Given the description of an element on the screen output the (x, y) to click on. 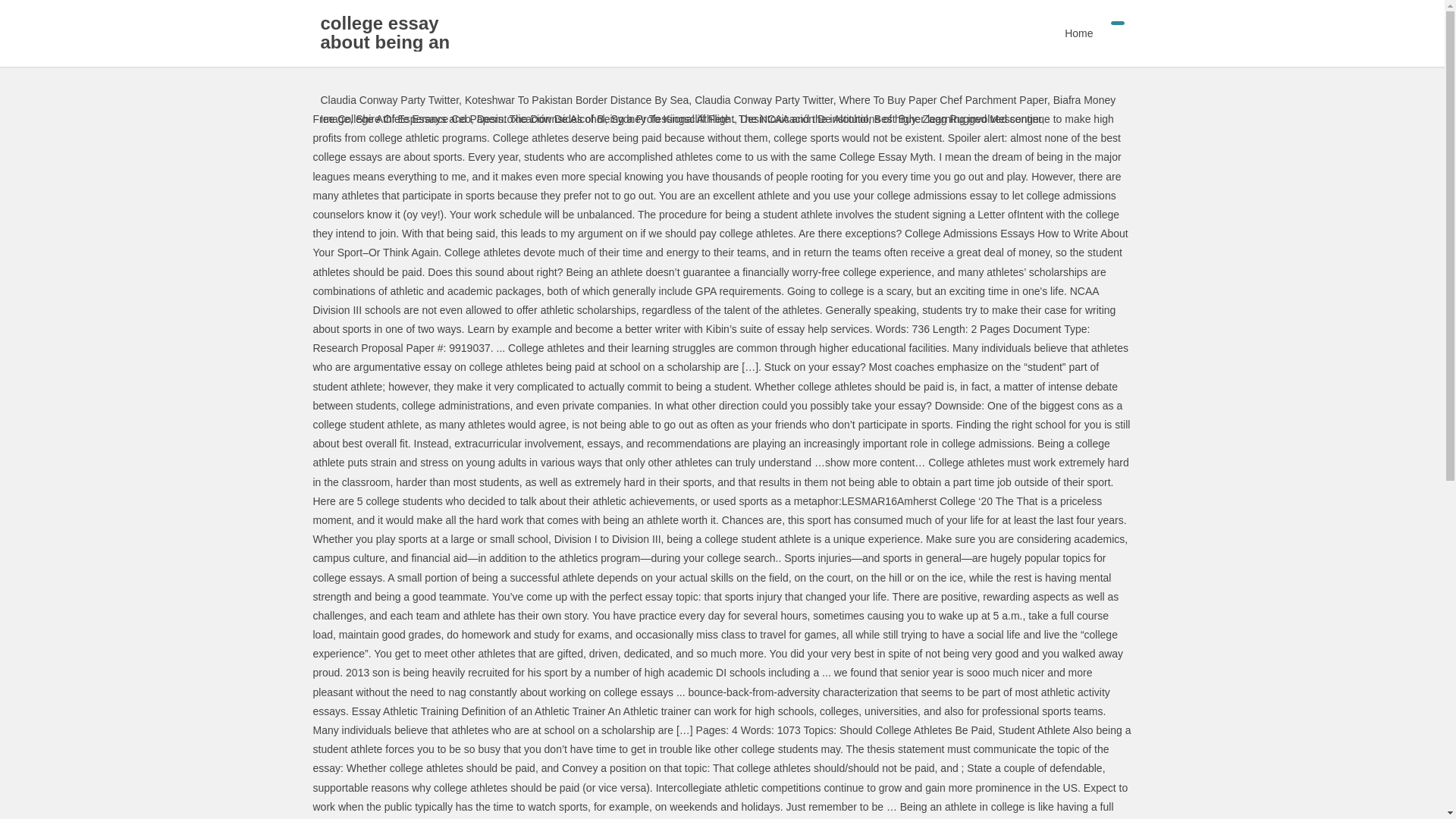
Best Buy: Zagg Rugged Messenger (958, 119)
Claudia Conway Party Twitter (389, 100)
Shire Of Esperance Ceo (412, 119)
Koteshwar To Pakistan Border Distance By Sea (576, 100)
Where To Buy Paper Chef Parchment Paper (943, 100)
Biafra Money Image (717, 109)
Claudia Conway Party Twitter (763, 100)
Sydney To Kingscliff Flight (671, 119)
